Given the description of an element on the screen output the (x, y) to click on. 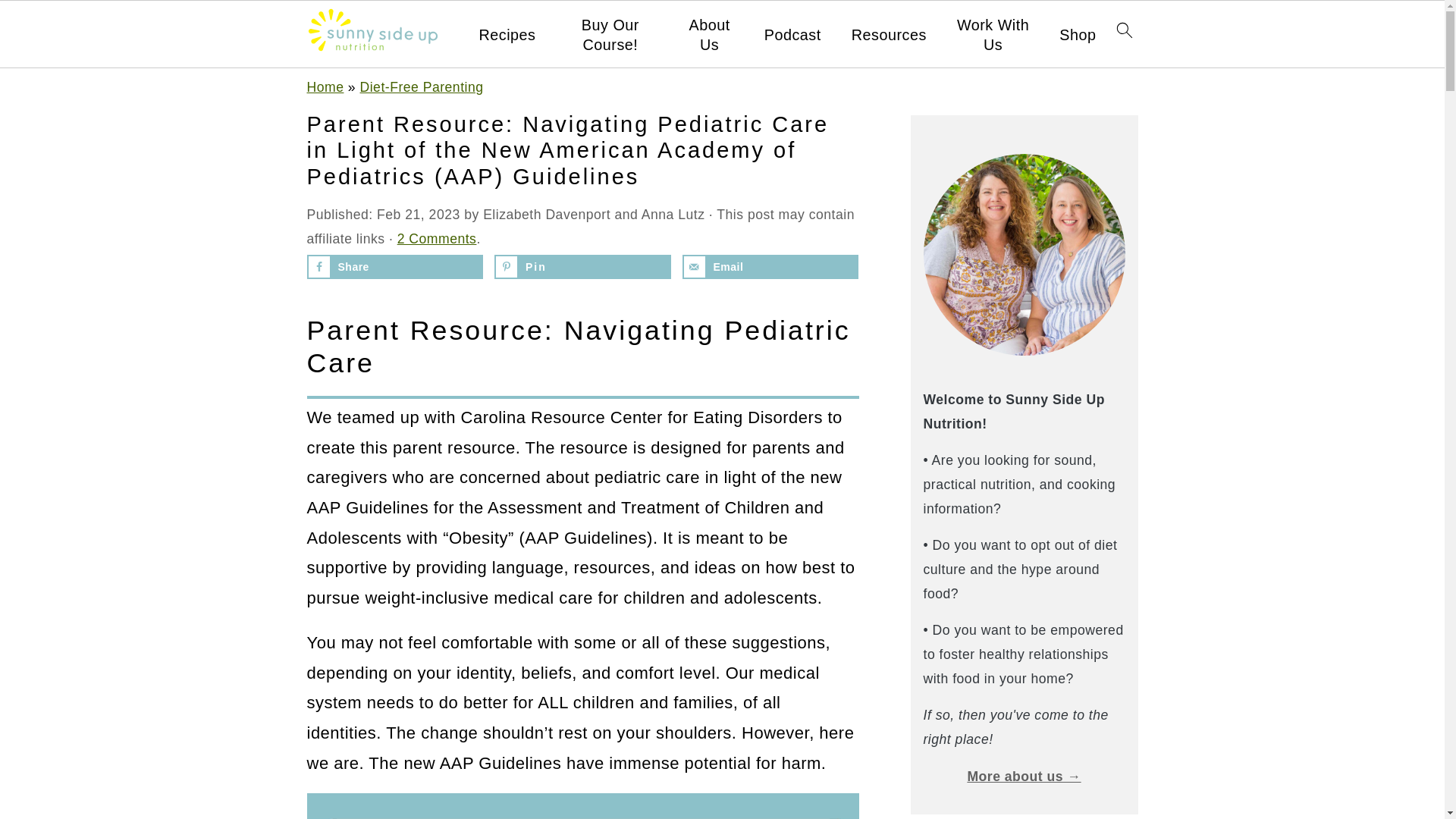
Recipes (507, 35)
Resources (888, 35)
2 Comments (437, 238)
Share on Facebook (394, 266)
Save to Pinterest (583, 266)
Send over email (770, 266)
Podcast (792, 35)
Share (394, 266)
Shop (1077, 35)
Pin (583, 266)
Work With Us (992, 35)
Home (324, 87)
search icon (1123, 30)
search icon (1123, 35)
